Given the description of an element on the screen output the (x, y) to click on. 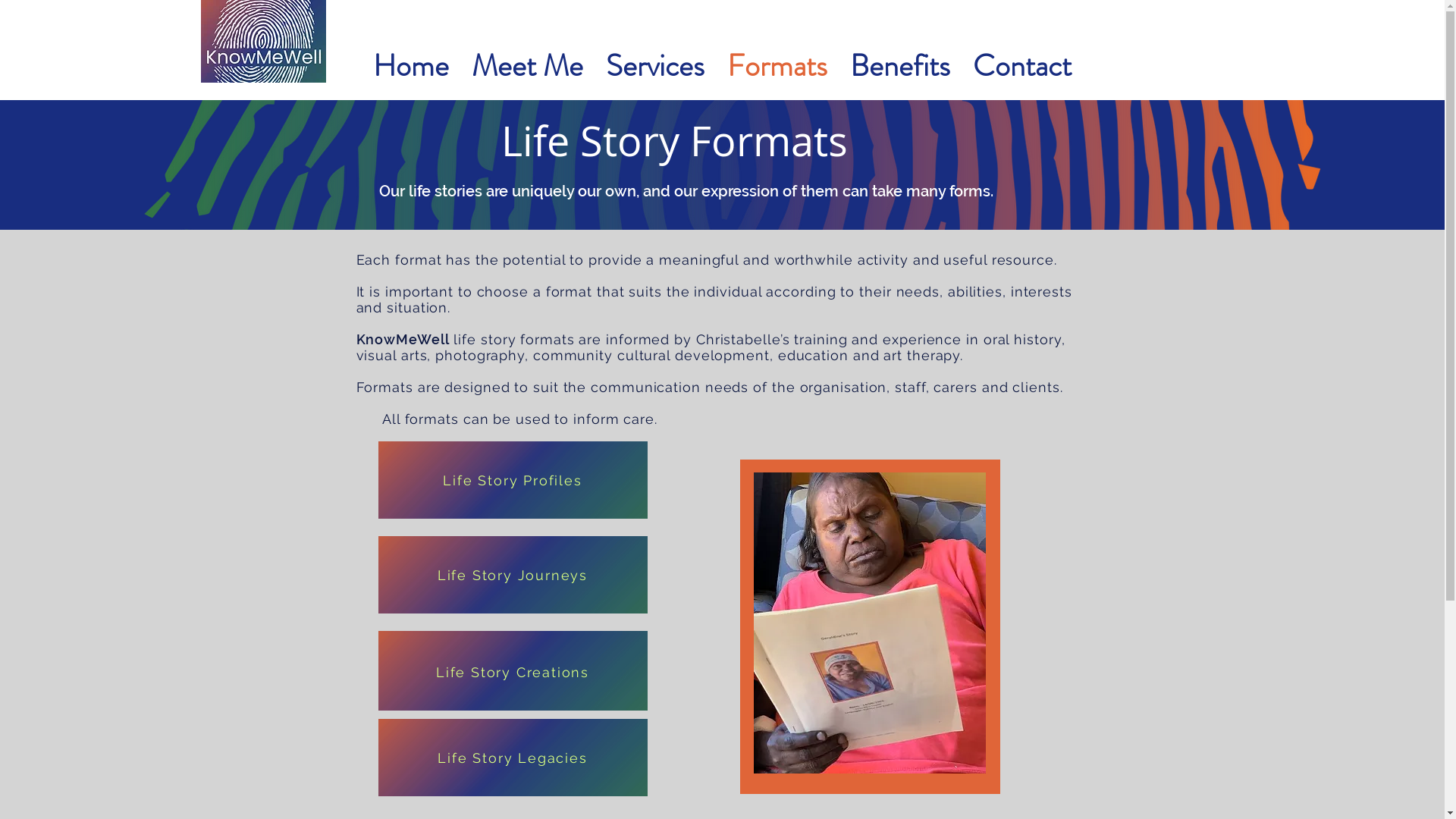
Life Story Profiles Element type: text (511, 479)
Contact Element type: text (1021, 65)
Life Story Journeys Element type: text (511, 574)
Benefits Element type: text (899, 65)
Home Element type: text (410, 65)
Life Story Legacies Element type: text (511, 757)
Meet Me Element type: text (527, 65)
Services Element type: text (654, 65)
Life Story Creations. Element type: text (511, 669)
Life Story Creations Element type: text (511, 671)
Formats Element type: text (776, 65)
KNW-personal history page_thumbnail.jpeg Element type: hover (262, 41)
